Given the description of an element on the screen output the (x, y) to click on. 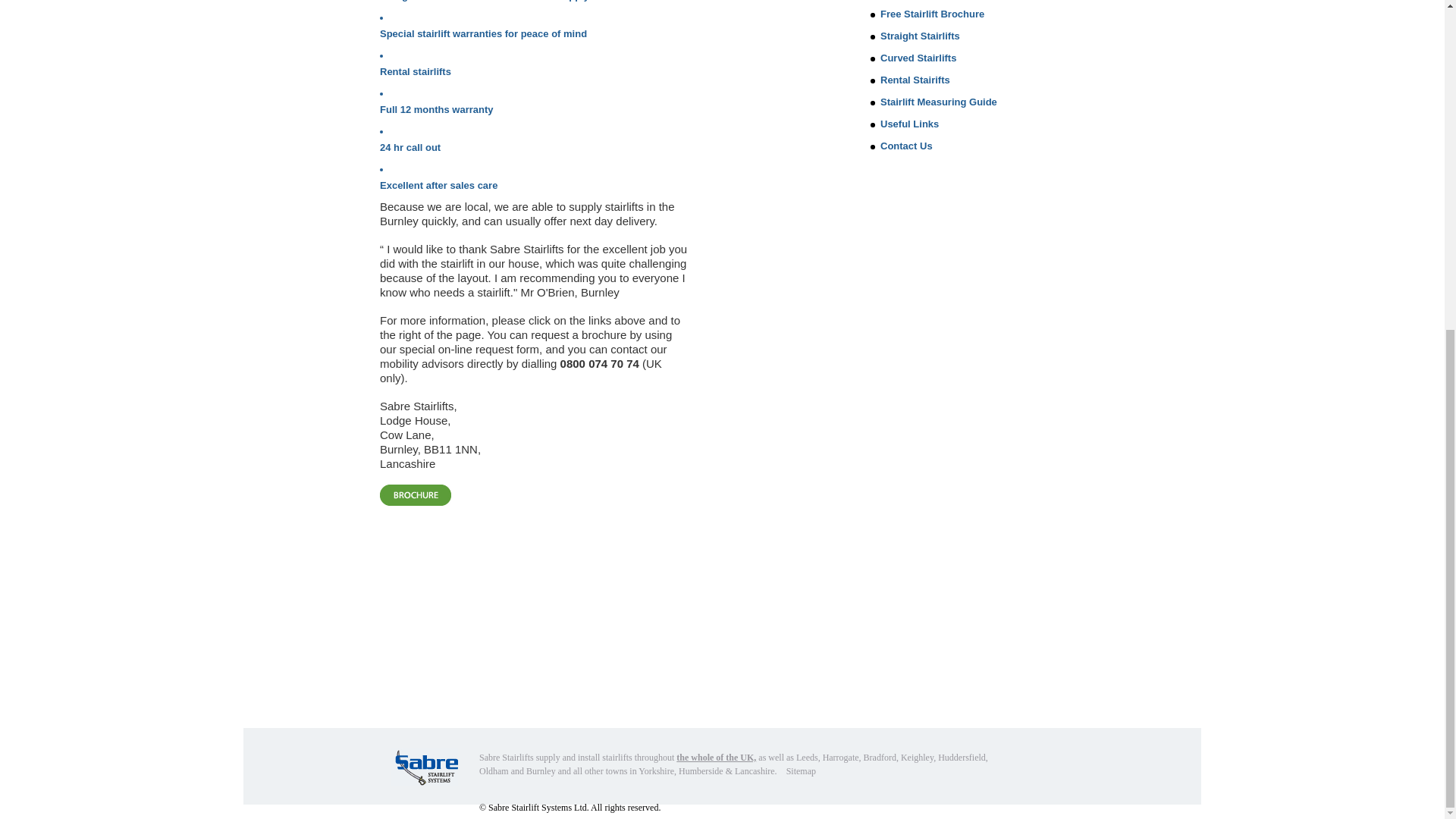
Rental stairlifts (415, 71)
Stairlift Measuring Guide (938, 101)
brochure by using our special on-line request form, (525, 341)
Sitemap (800, 770)
Free Stairlift Brochure (932, 13)
curved stairlifts (519, 0)
Keighley (917, 757)
Straight stairlifts (419, 0)
Full 12 months warranty (436, 109)
Contact Us (906, 145)
Straight Stairlifts (919, 35)
Leeds (807, 757)
Harrogate (840, 757)
Excellent after sales care (438, 184)
Useful Links (909, 123)
